Given the description of an element on the screen output the (x, y) to click on. 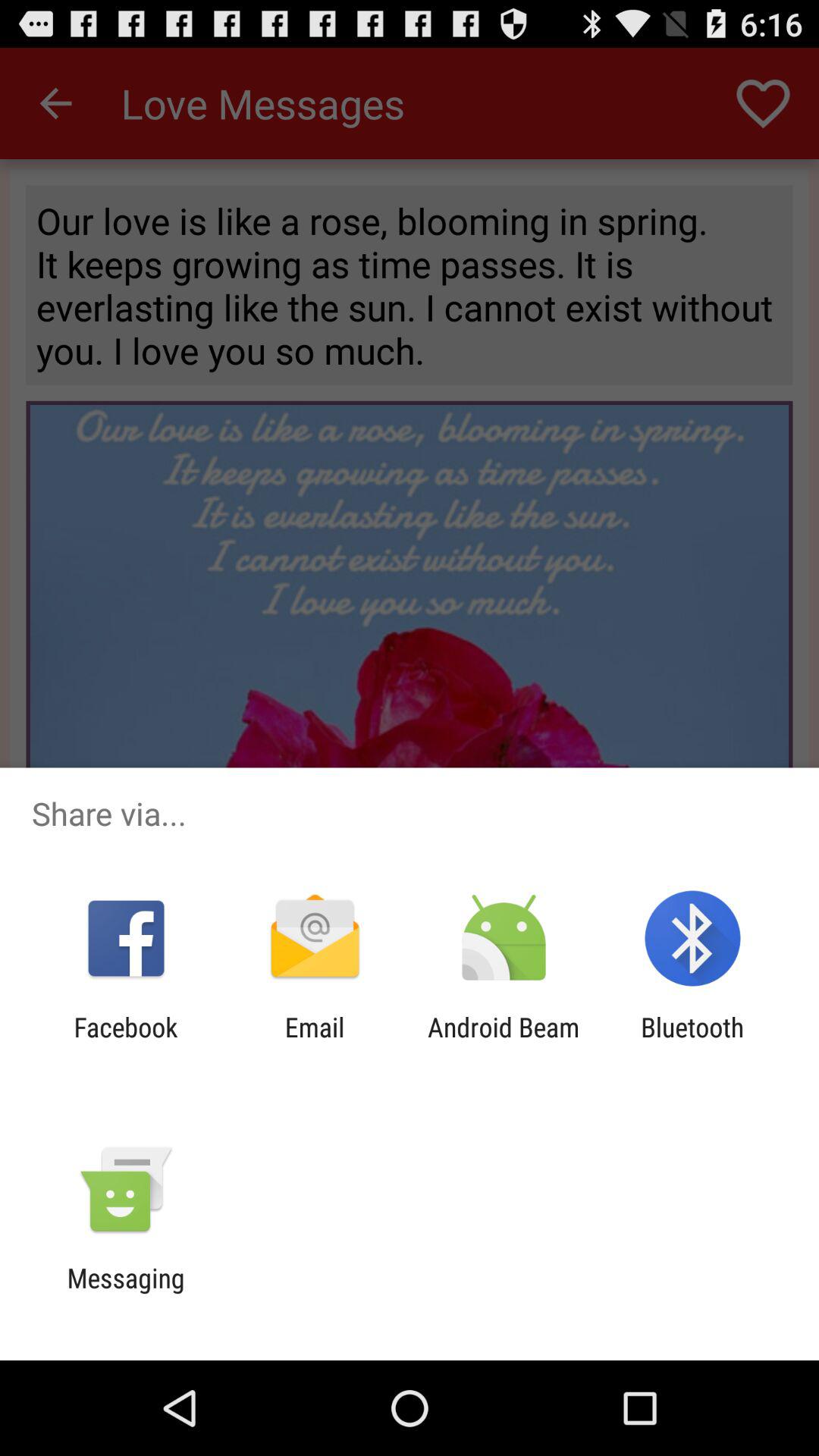
turn off android beam item (503, 1042)
